Given the description of an element on the screen output the (x, y) to click on. 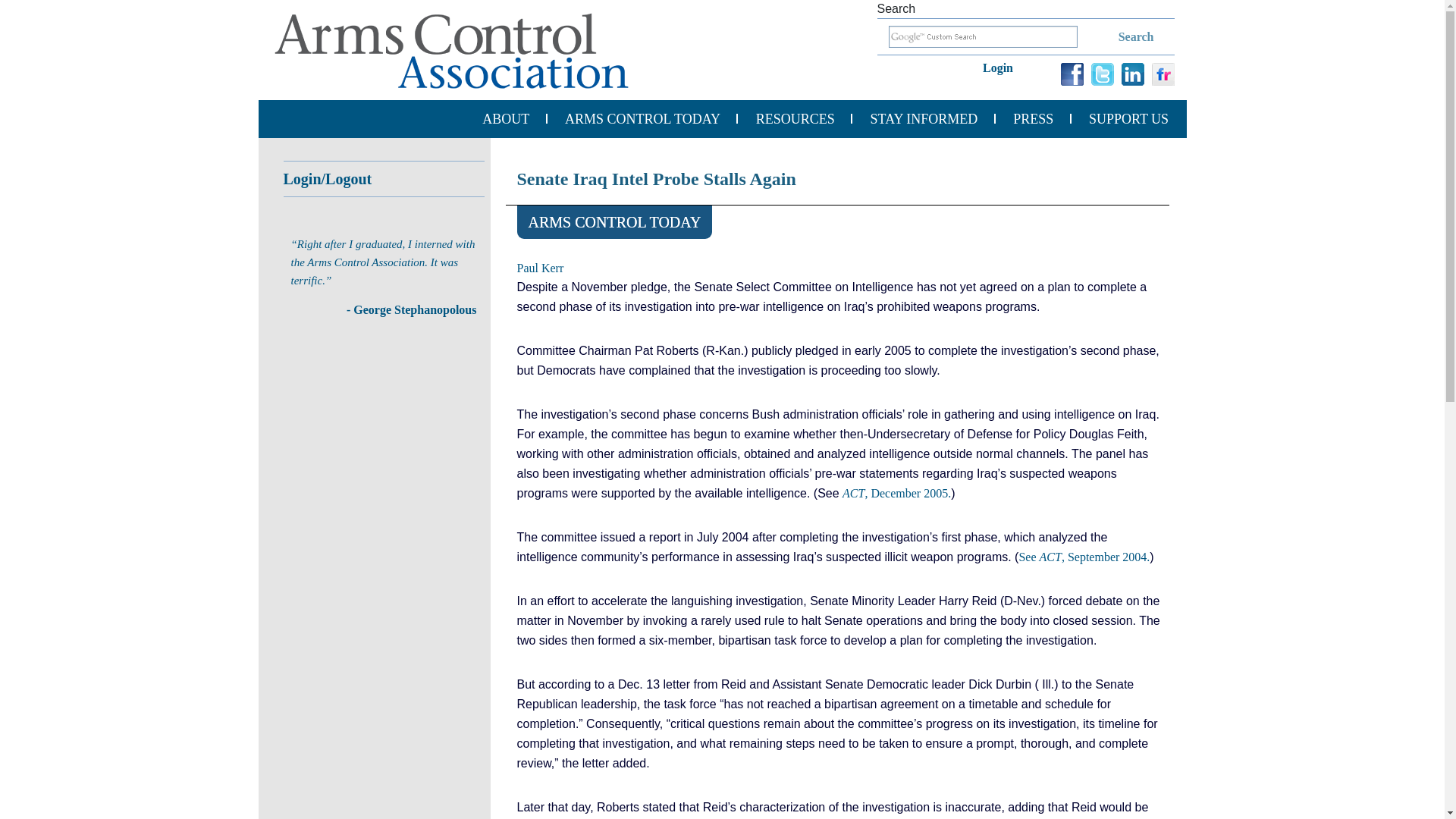
STAY INFORMED (923, 118)
Enter the terms you wish to search for. (982, 36)
ARMS CONTROL TODAY (642, 118)
RESOURCES (794, 118)
Search (1117, 36)
ABOUT (505, 118)
Log in (1004, 65)
Home (451, 50)
